Given the description of an element on the screen output the (x, y) to click on. 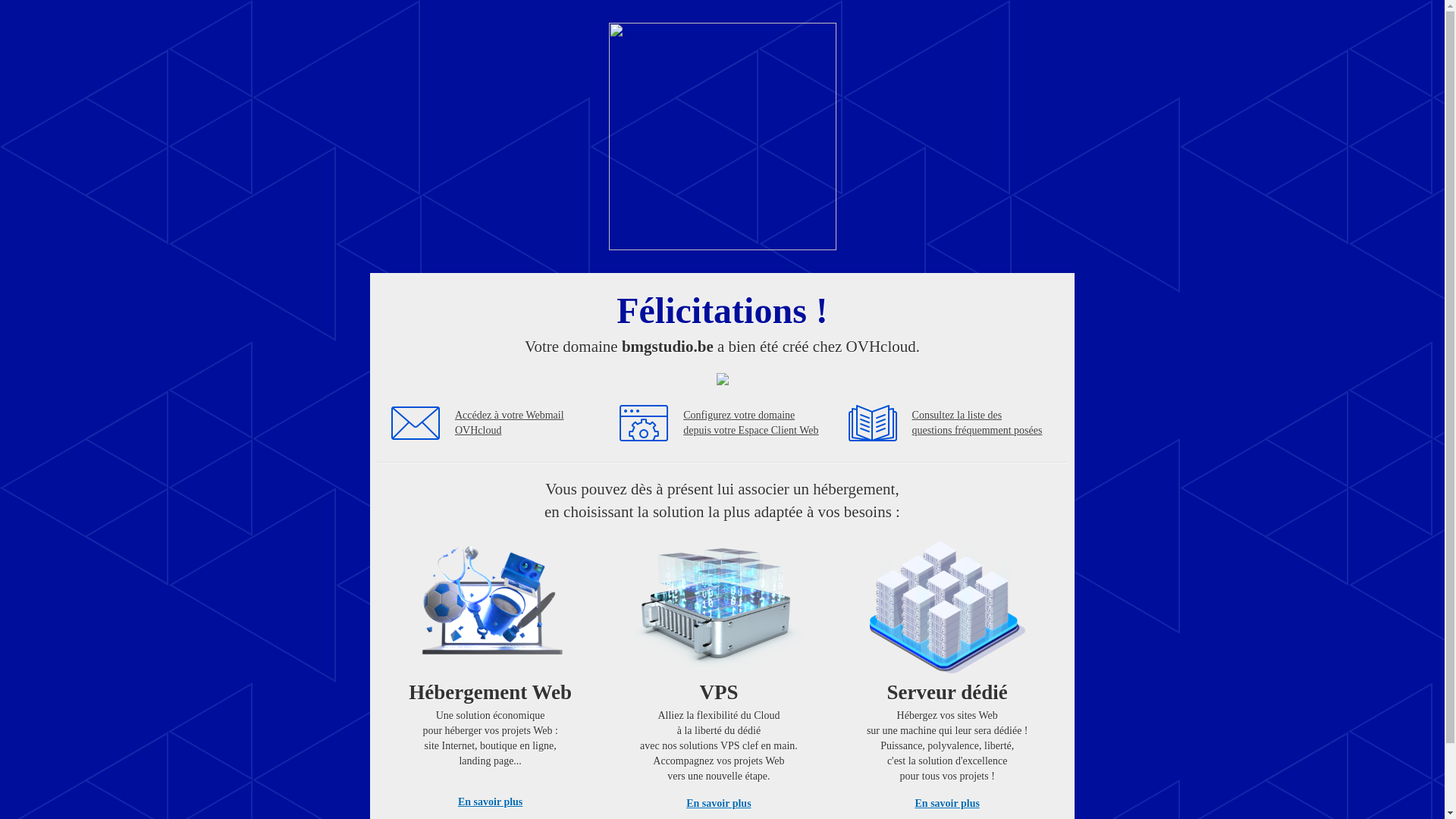
En savoir plus Element type: text (718, 803)
En savoir plus Element type: text (490, 801)
Configurez votre domaine
depuis votre Espace Client Web Element type: text (750, 422)
OVHcloud Element type: hover (721, 245)
VPS Element type: hover (718, 669)
En savoir plus Element type: text (947, 803)
